Given the description of an element on the screen output the (x, y) to click on. 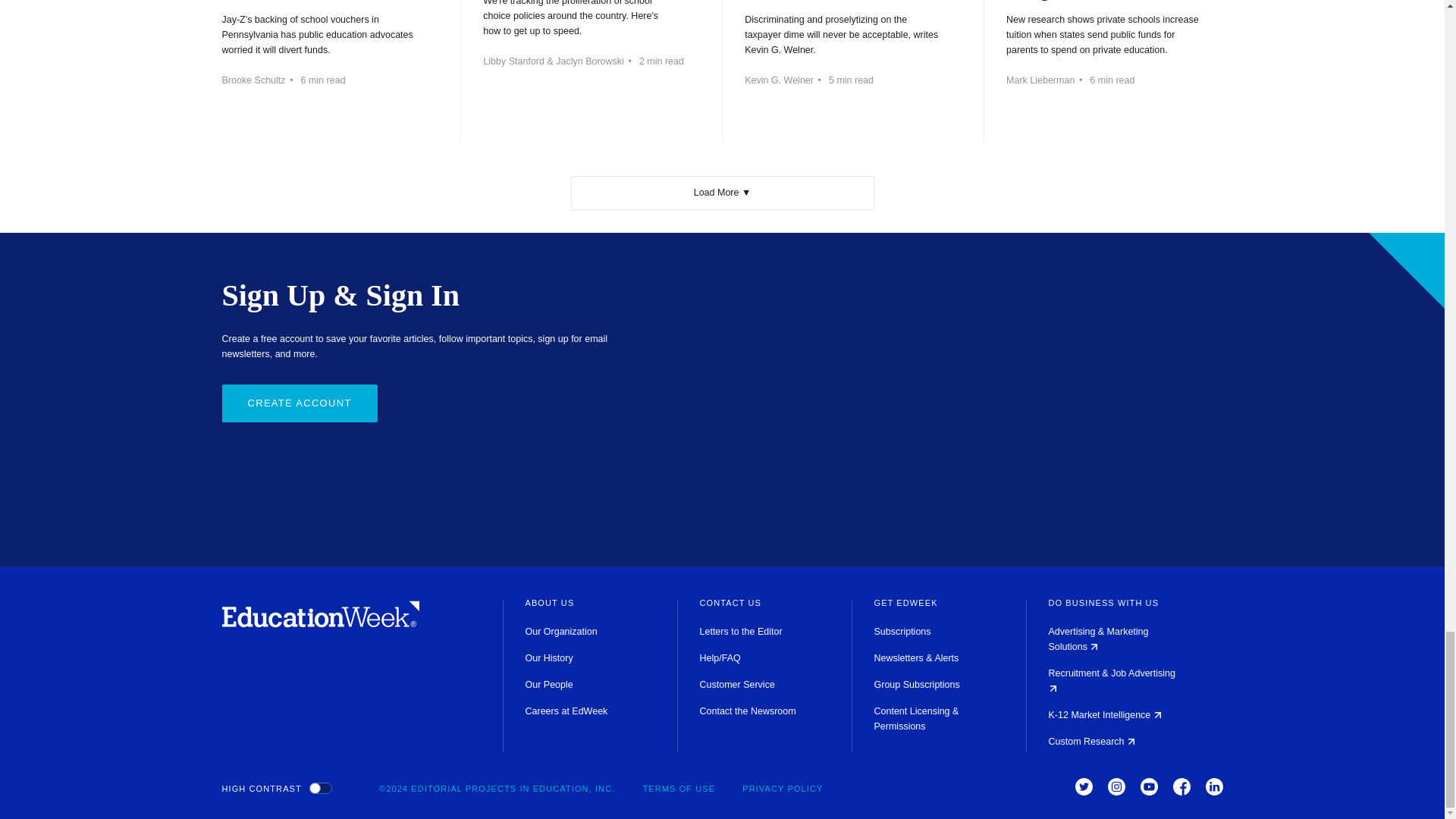
Homepage (320, 623)
